Given the description of an element on the screen output the (x, y) to click on. 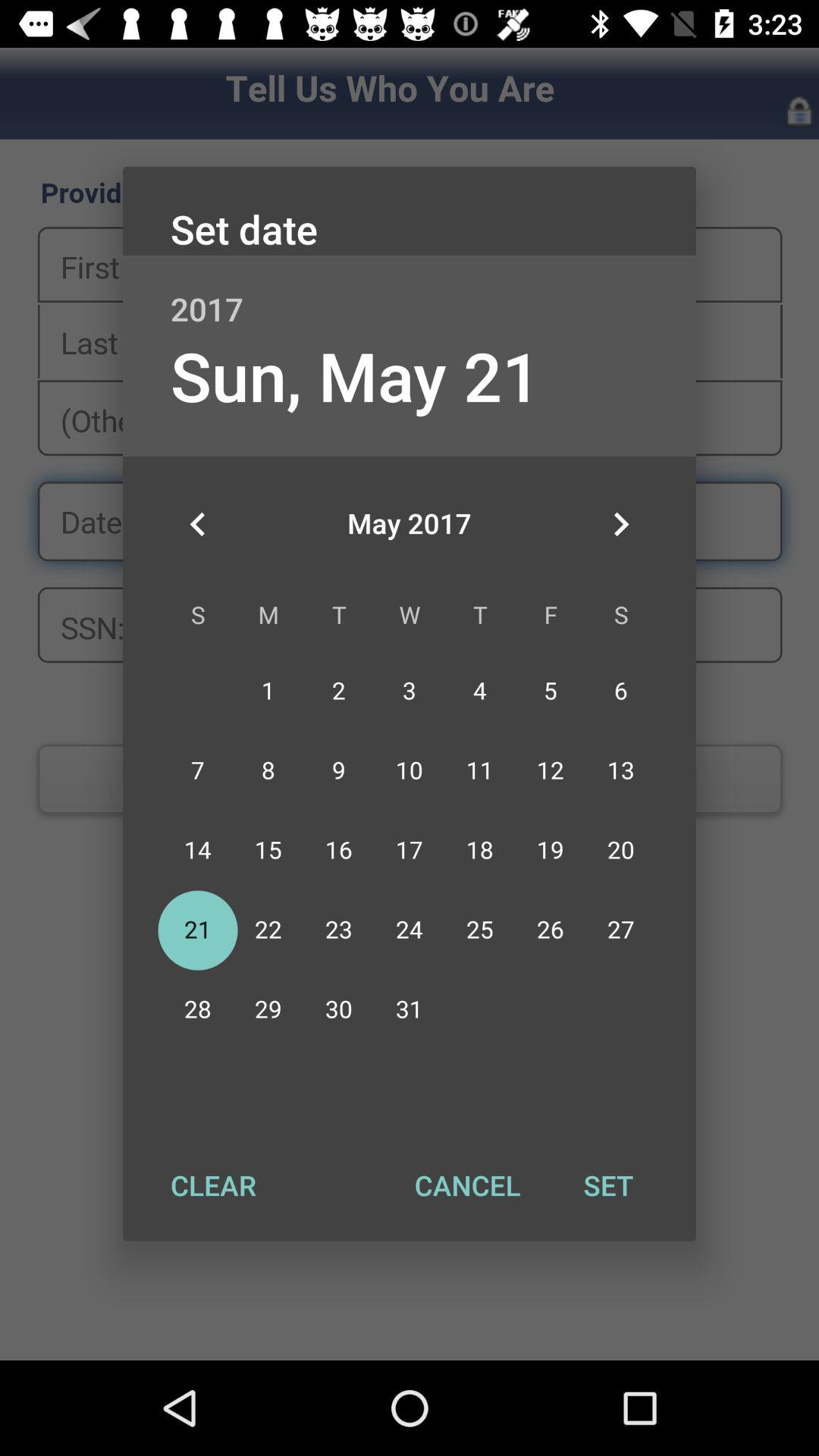
launch the app below the 2017 item (355, 375)
